Given the description of an element on the screen output the (x, y) to click on. 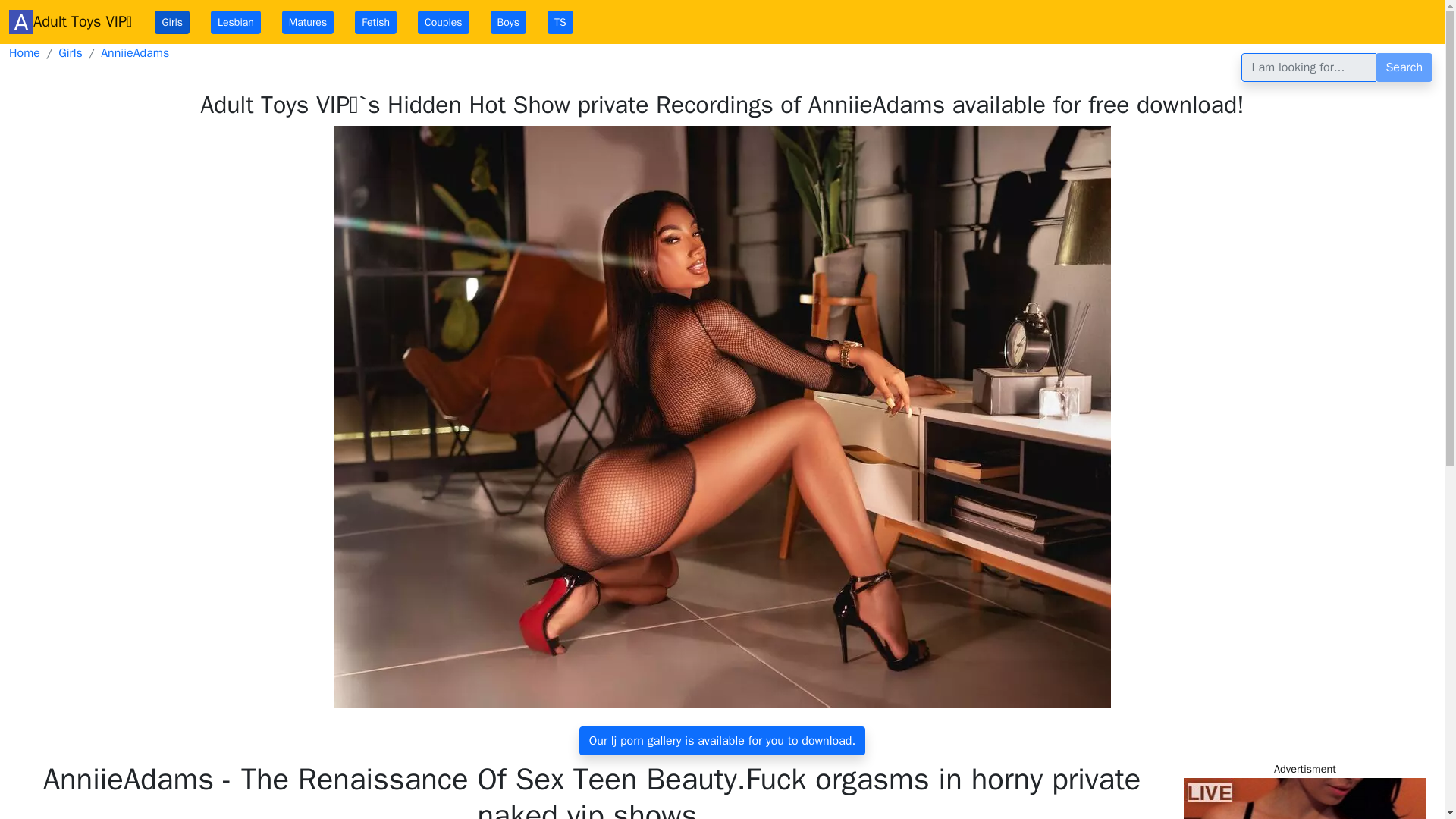
AnniieAdams (134, 52)
Lesbian (235, 22)
Home (24, 52)
Fetish (375, 22)
Girls (70, 52)
Couples (442, 22)
TS (560, 22)
Fetish (375, 22)
Boys (507, 22)
